Given the description of an element on the screen output the (x, y) to click on. 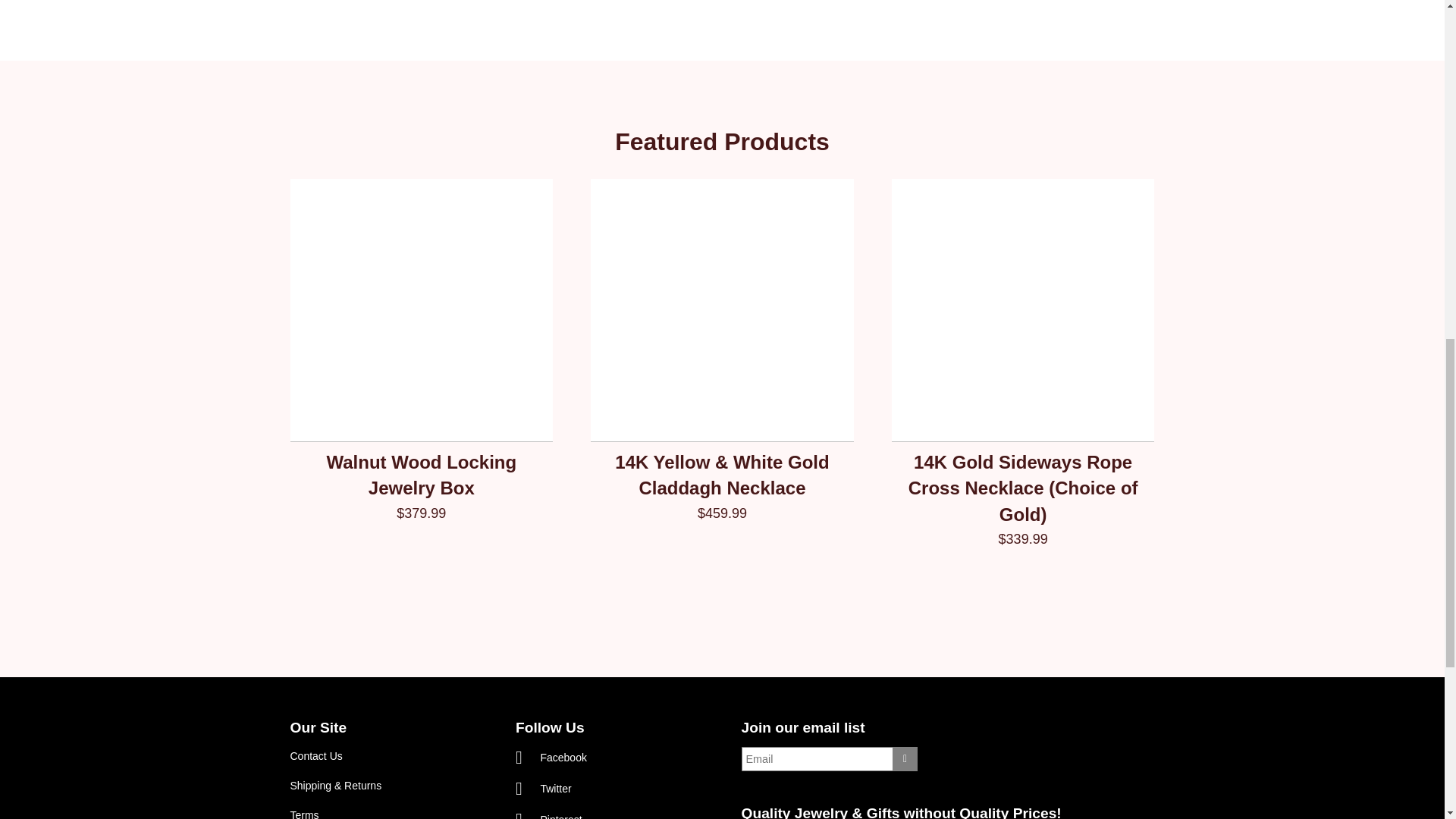
Twitter (543, 785)
Facebook (550, 754)
Terms (303, 814)
Contact Us (315, 756)
Pinterest (548, 814)
